Given the description of an element on the screen output the (x, y) to click on. 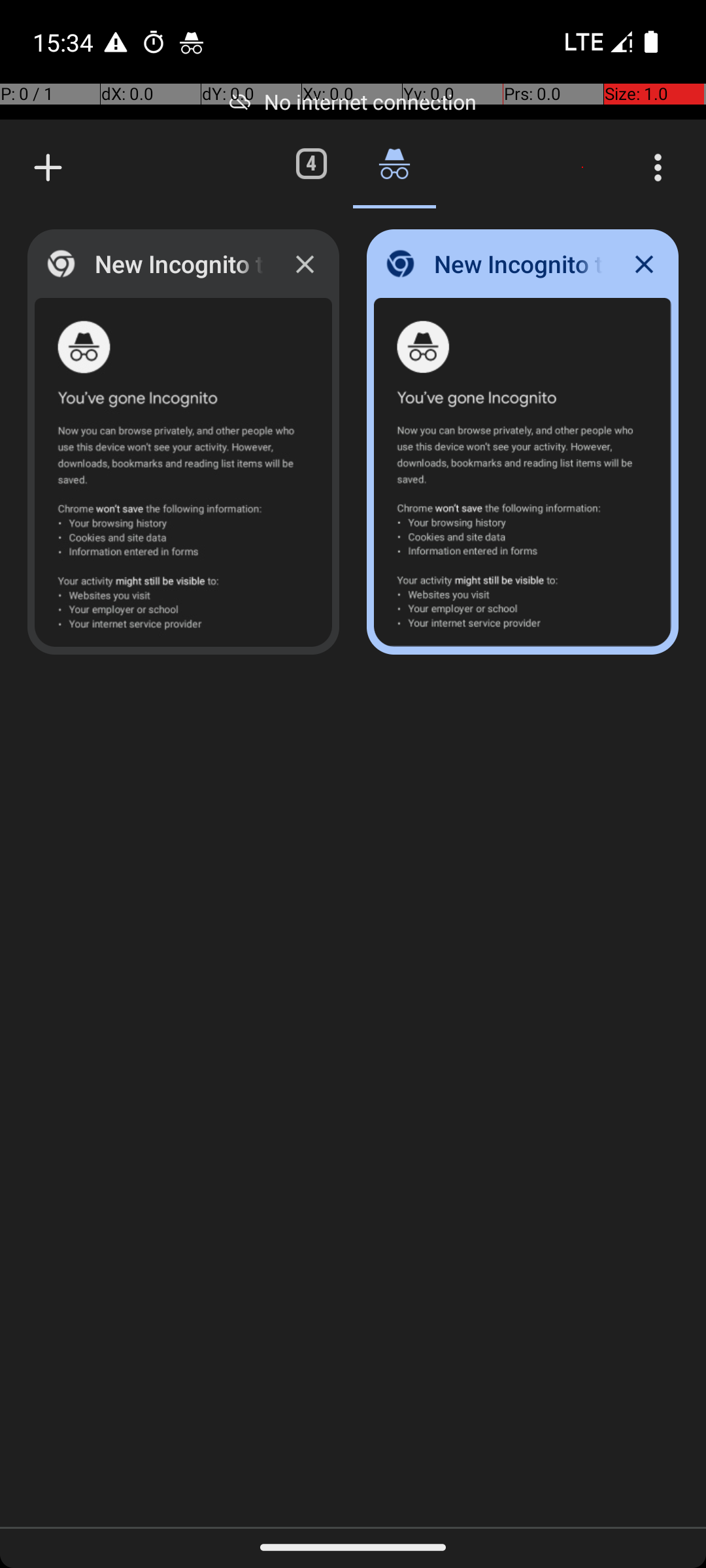
New Incognito tab Element type: android.widget.ImageButton (48, 167)
Close New Incognito tab tab Element type: android.widget.ImageView (304, 263)
Standard tabs Element type: android.widget.ImageView (311, 163)
Incognito tabs Element type: android.widget.ImageView (394, 163)
